Given the description of an element on the screen output the (x, y) to click on. 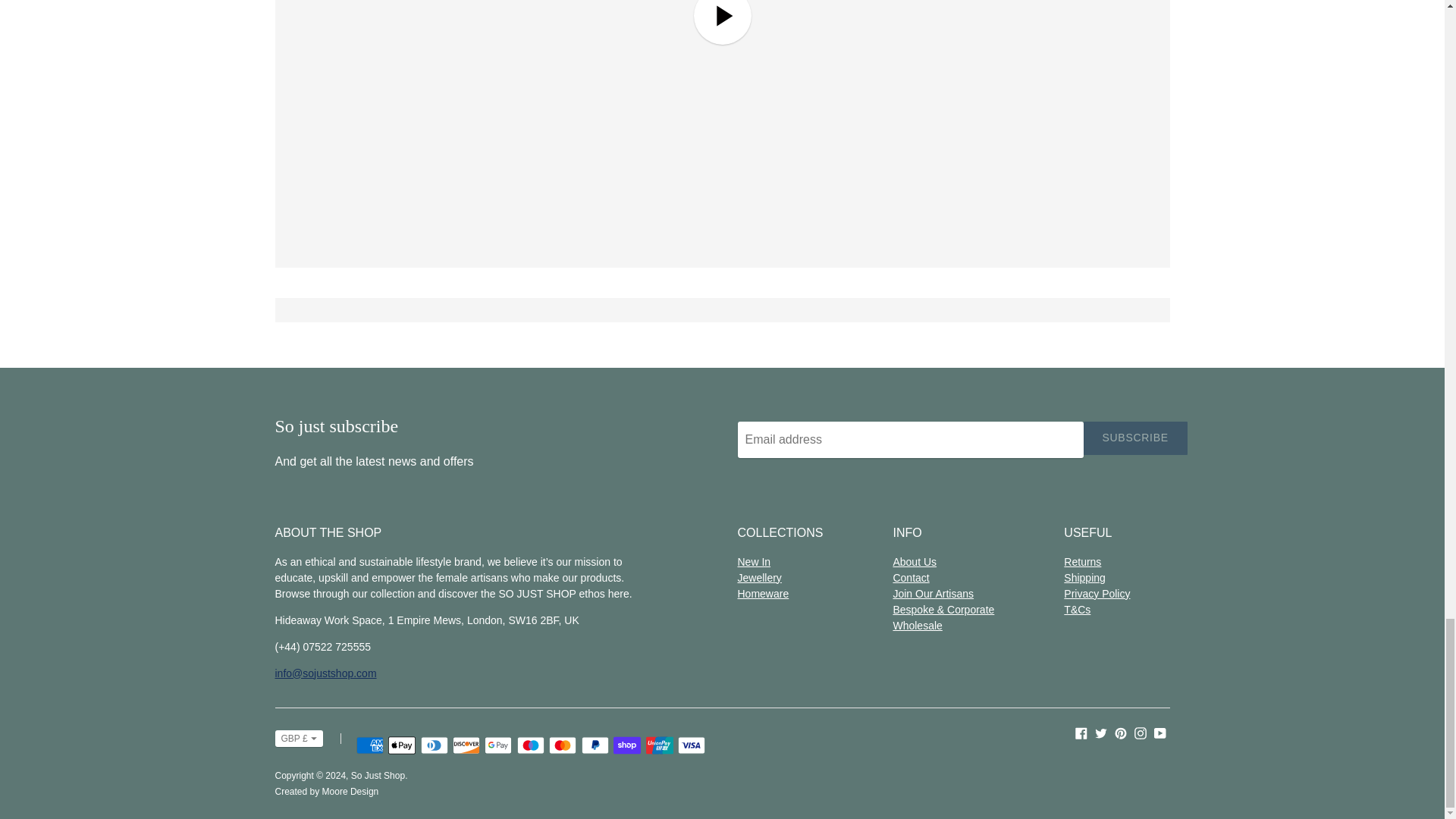
So Just Shop on Pinterest (1120, 732)
So Just Shop on Facebook (1081, 732)
So Just Shop on YouTube (1160, 732)
So Just Shop on Instagram (1140, 732)
So Just Shop on Twitter (1100, 732)
Moore Design Website (349, 791)
